Given the description of an element on the screen output the (x, y) to click on. 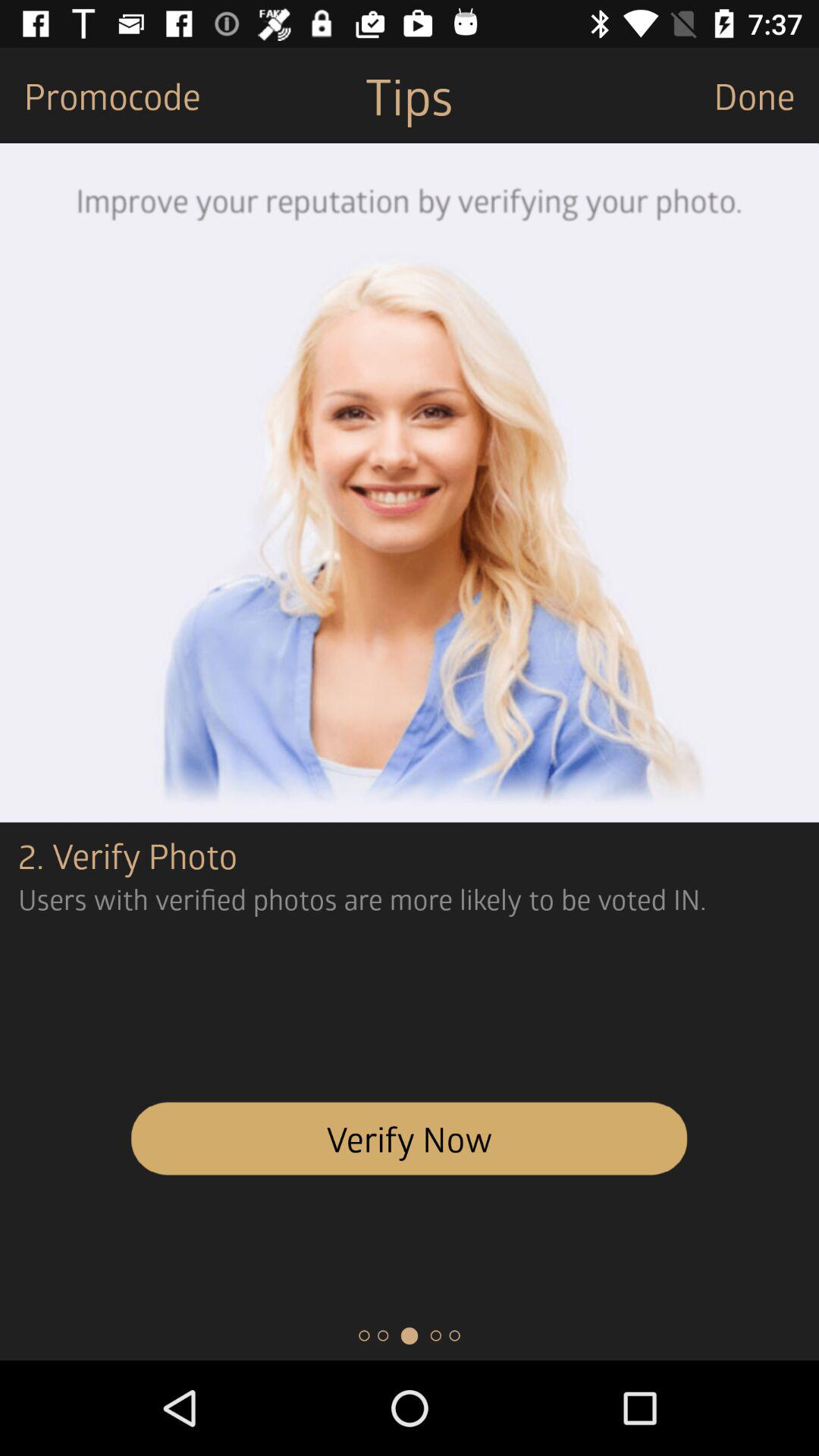
choose the item next to the done item (409, 95)
